Given the description of an element on the screen output the (x, y) to click on. 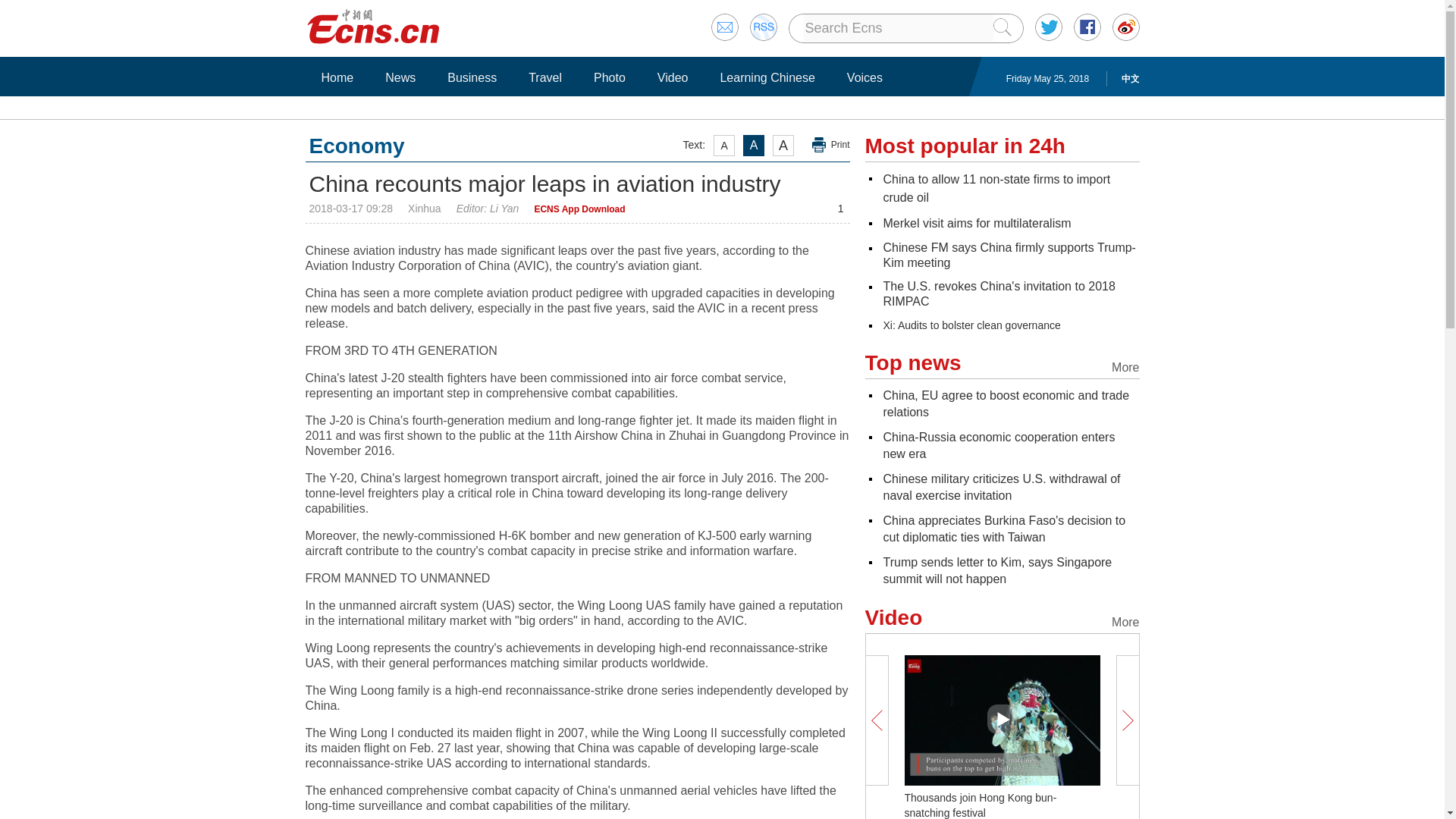
Search Ecns (897, 27)
Voices (864, 77)
Business (472, 77)
Xi: Audits to bolster clean governance (970, 325)
Home (337, 77)
Chinese FM says China firmly supports Trump-Kim meeting (1008, 254)
Print (831, 144)
ECNS App Download (579, 208)
China to allow 11 non-state firms to import crude oil (995, 187)
Photo (609, 77)
